Given the description of an element on the screen output the (x, y) to click on. 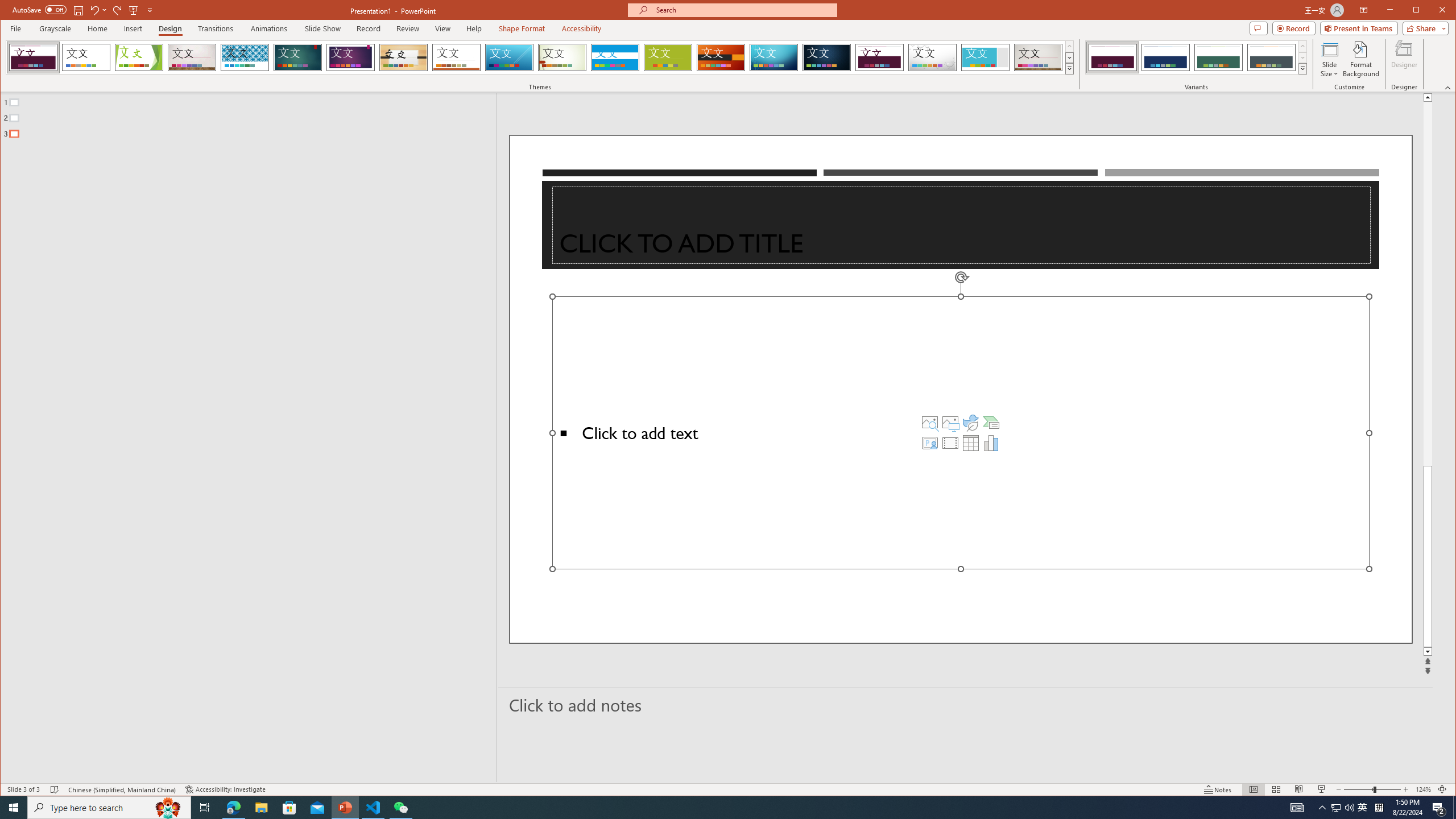
Outline (252, 115)
Facet (138, 57)
Damask (826, 57)
Insert Table (970, 443)
Dividend Variant 1 (1112, 57)
